Given the description of an element on the screen output the (x, y) to click on. 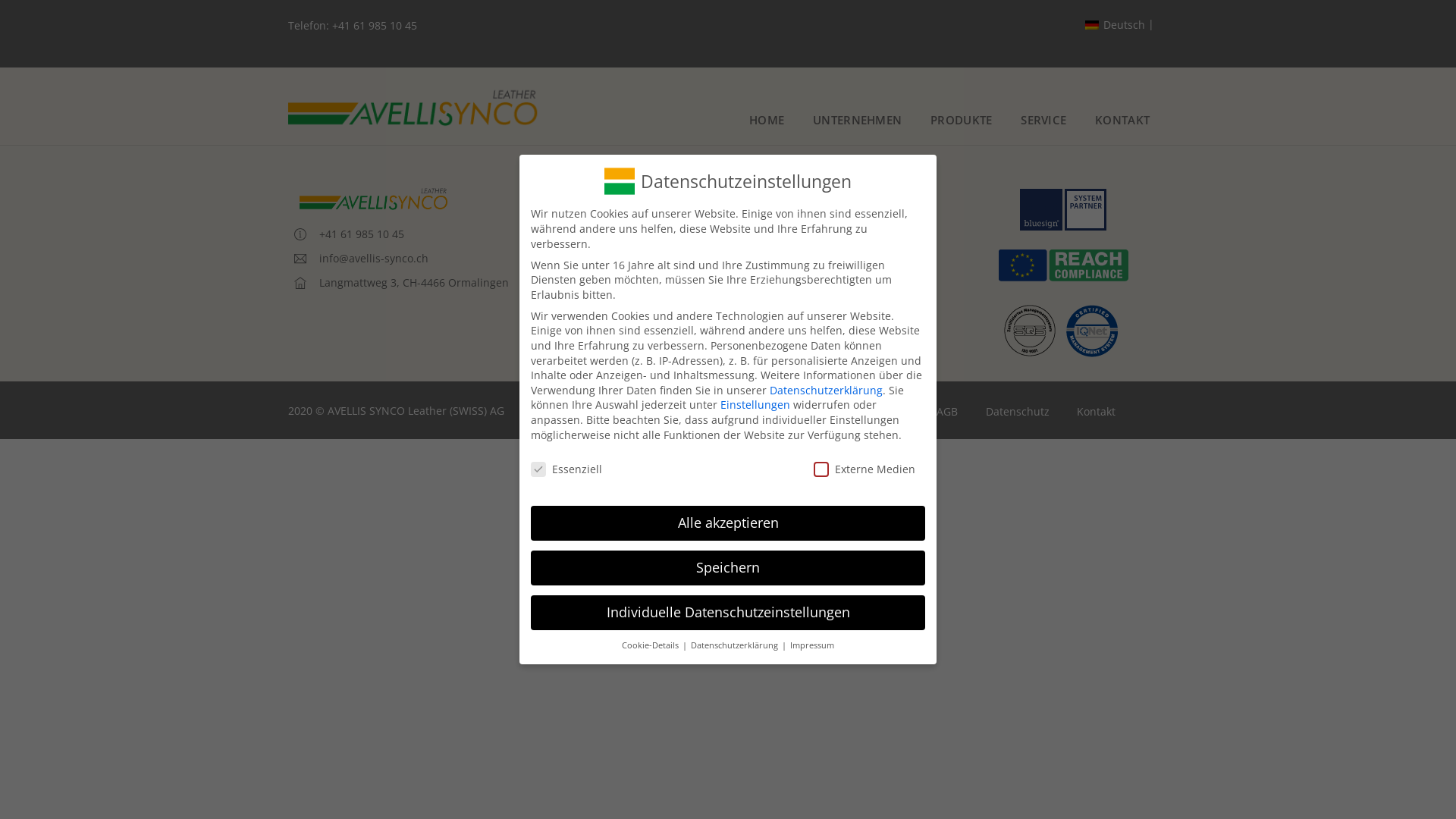
Kontakt Element type: text (646, 319)
+41 61 985 10 45 Element type: text (349, 234)
reach compliance Element type: hover (1063, 264)
Avellis Synco Leather Swiss Element type: hover (415, 107)
Langmattweg 3, CH-4466 Ormalingen Element type: text (401, 282)
info@avellis-synco.ch Element type: text (361, 258)
Deutsch Element type: text (1119, 24)
Impressum Element type: text (810, 645)
KONTAKT Element type: text (1122, 120)
Ihr Weg zu Avellis-Synco Leather Swiss Element type: text (725, 271)
AGB Element type: text (946, 412)
PRODUKTE Element type: text (961, 120)
SQS-IQ-Net Element type: hover (1062, 328)
Einstellungen Element type: text (755, 404)
SERVICE Element type: text (1044, 120)
Impressum Element type: text (879, 412)
Alle akzeptieren Element type: text (727, 522)
HOME Element type: text (766, 120)
Kontakt Element type: text (1096, 412)
Leitbild und Historie Element type: text (678, 222)
UNTERNEHMEN Element type: text (857, 120)
Jobs und Karriere Element type: text (671, 247)
+41 61 985 10 45 Element type: text (374, 25)
AVELLIS SYNCO LEATHER Gruppe Element type: text (710, 198)
Home Element type: text (808, 412)
Avellis Synco Leather Swiss Element type: hover (374, 198)
Farbchemie Braun Gruppe Element type: text (694, 295)
Cookie-Details Element type: text (650, 645)
Individuelle Datenschutzeinstellungen Element type: text (727, 612)
Speichern Element type: text (727, 567)
Datenschutz Element type: text (1017, 412)
